Given the description of an element on the screen output the (x, y) to click on. 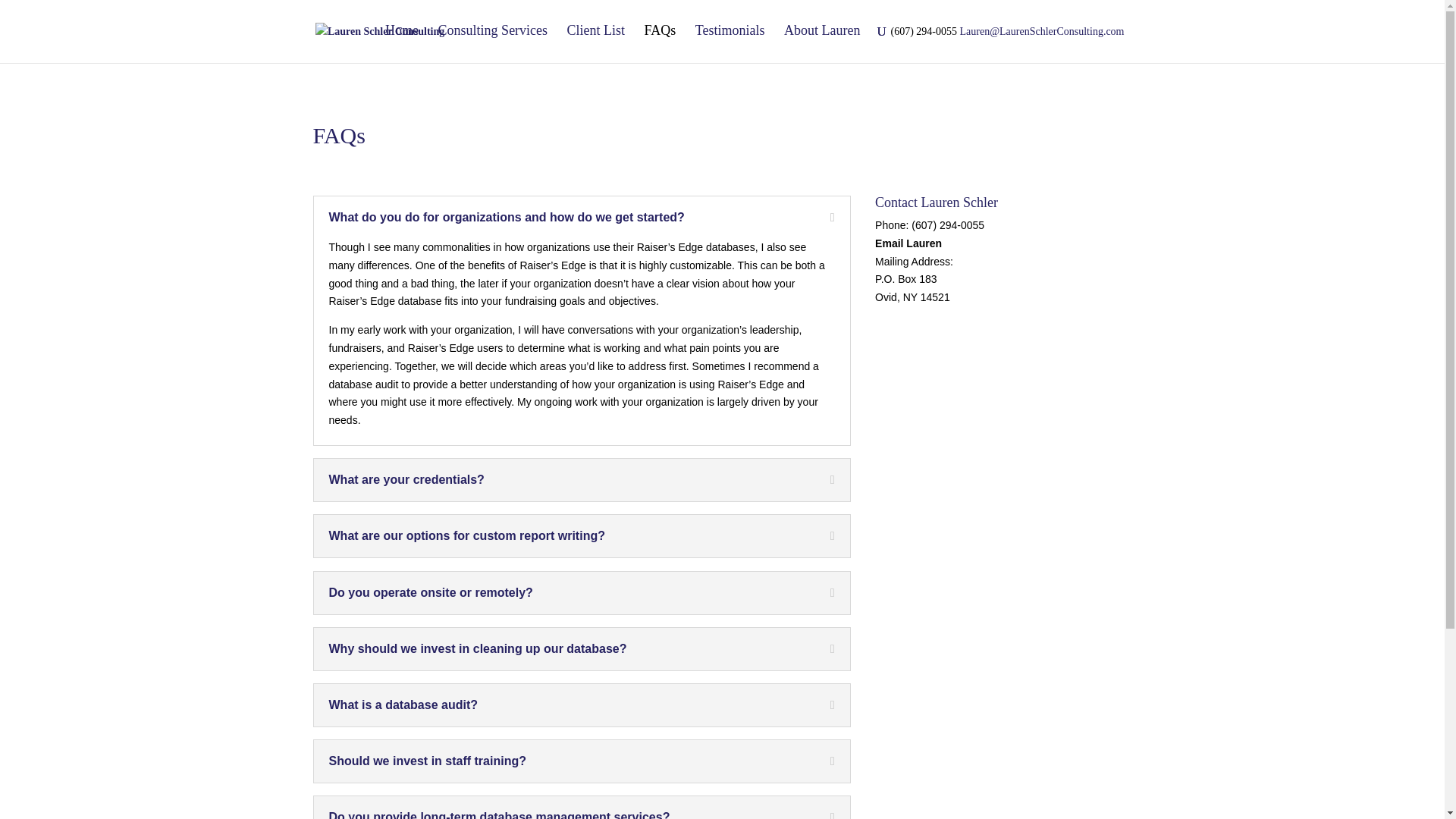
Testimonials (730, 42)
Home (402, 42)
Client List (596, 42)
FAQs (661, 42)
Email Lauren (908, 243)
Consulting Services (493, 42)
About Lauren (822, 42)
